Given the description of an element on the screen output the (x, y) to click on. 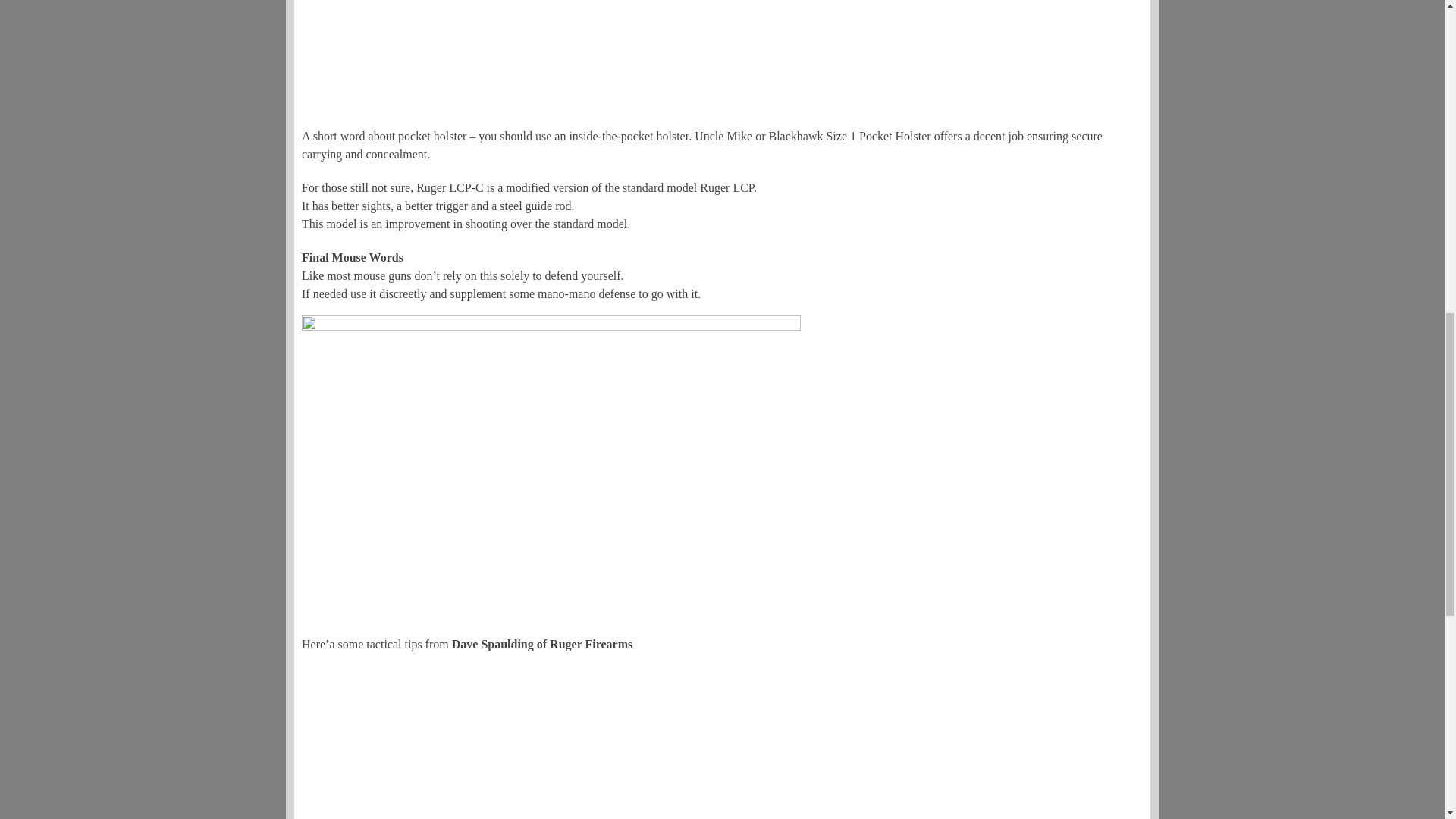
Tactical Pocket Pistol Tips -- Pocket Carry (558, 736)
